Given the description of an element on the screen output the (x, y) to click on. 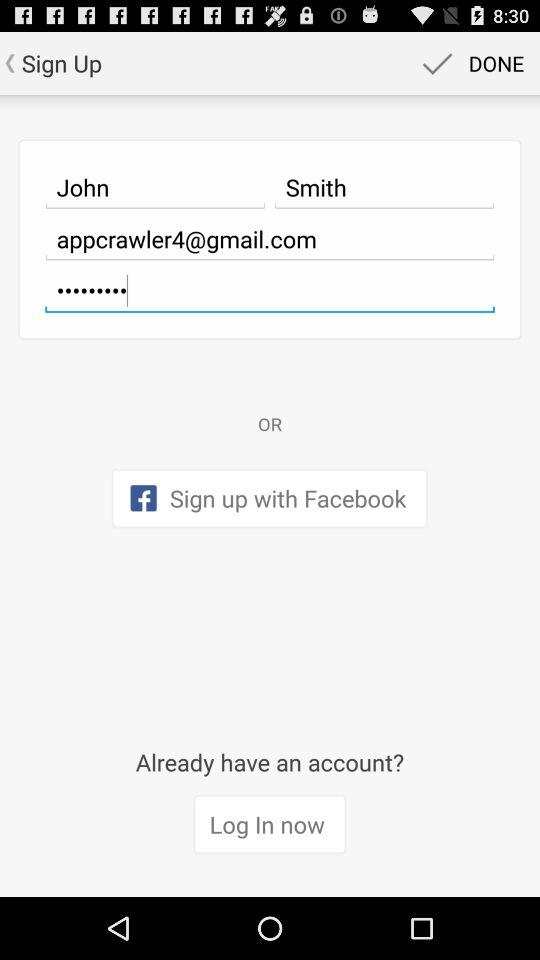
click the log in now icon (269, 825)
